Given the description of an element on the screen output the (x, y) to click on. 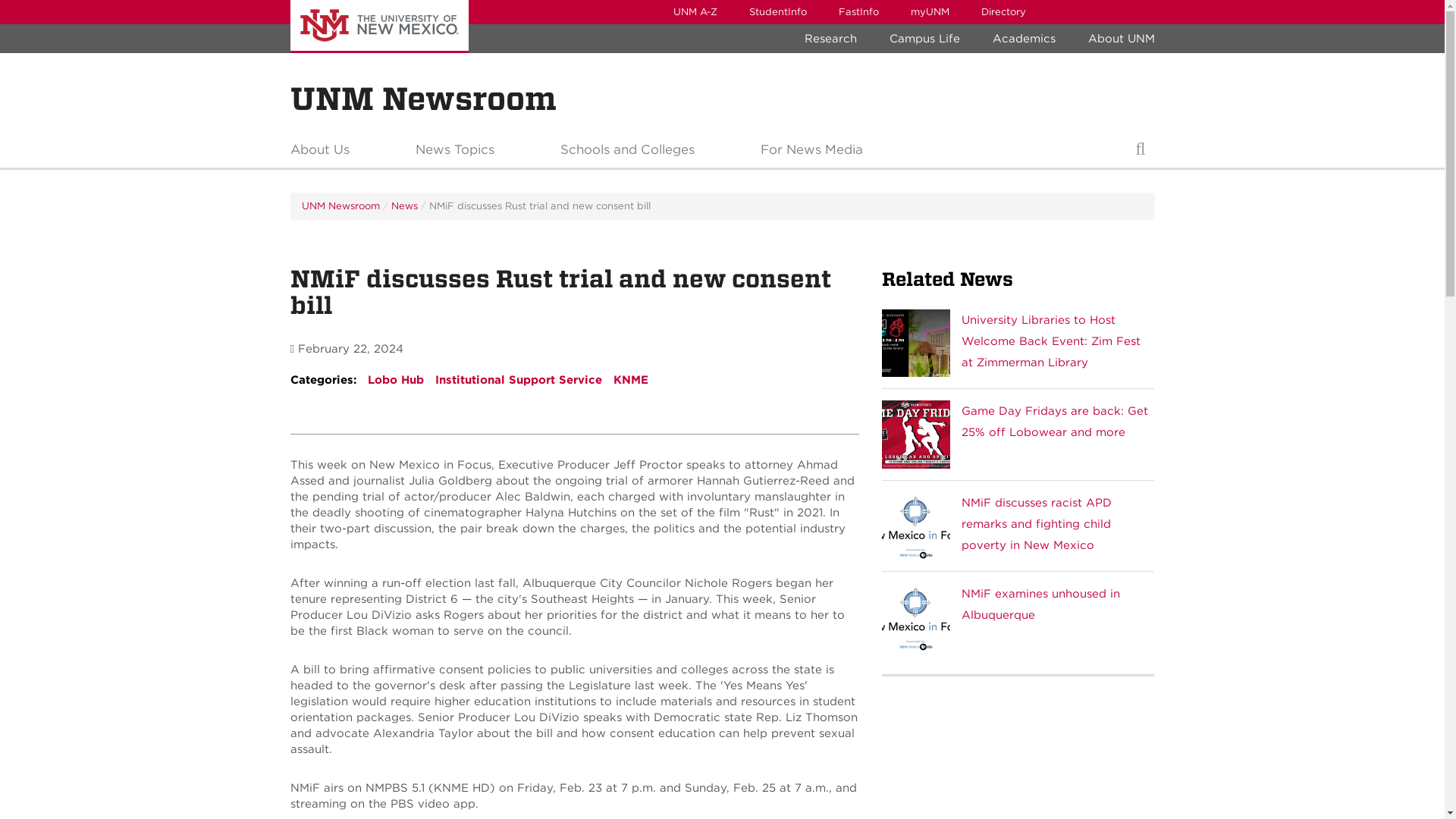
UNM Newsroom (422, 98)
FastInfo (858, 12)
Research (830, 38)
myUNM (929, 12)
UNM A-Z (694, 12)
Toggle search (1139, 153)
Academics (1024, 38)
About UNM (1121, 38)
StudentInfo (777, 12)
Campus Life (924, 38)
